Given the description of an element on the screen output the (x, y) to click on. 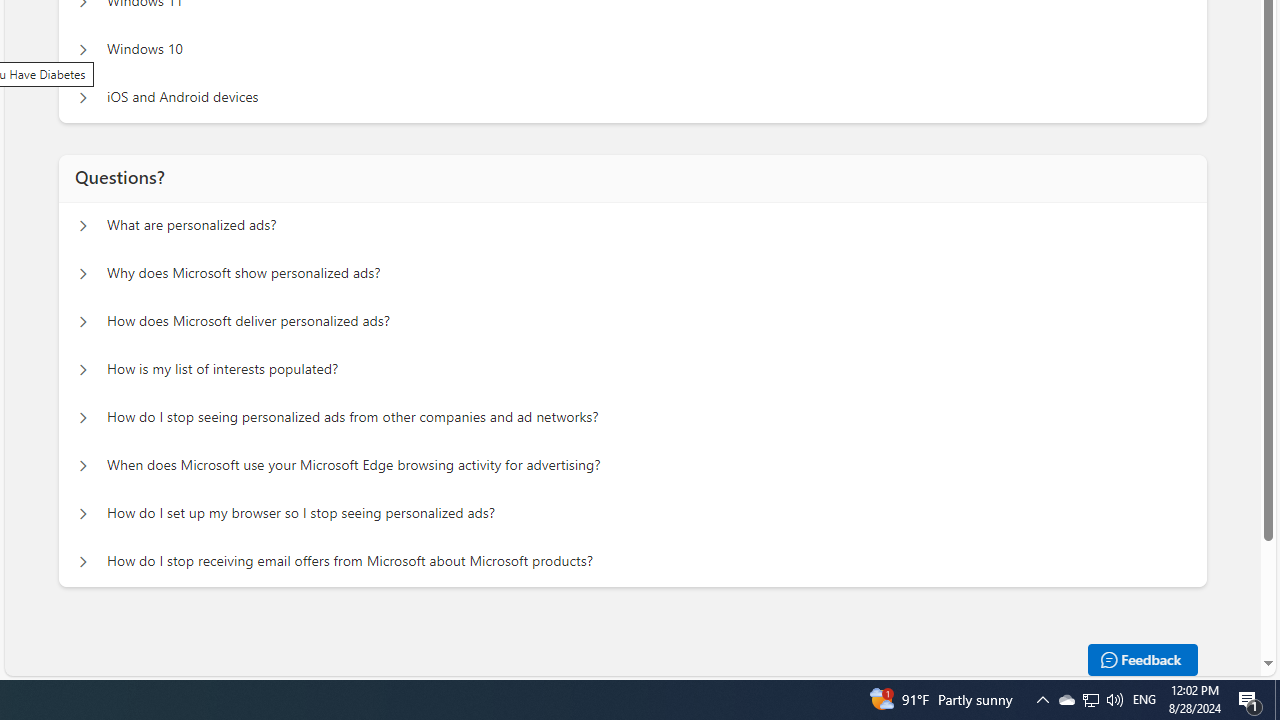
Questions? How does Microsoft deliver personalized ads? (82, 322)
Manage personalized ads on your device Windows 10 (82, 49)
Questions? What are personalized ads? (82, 226)
Questions? How is my list of interests populated? (82, 370)
